Given the description of an element on the screen output the (x, y) to click on. 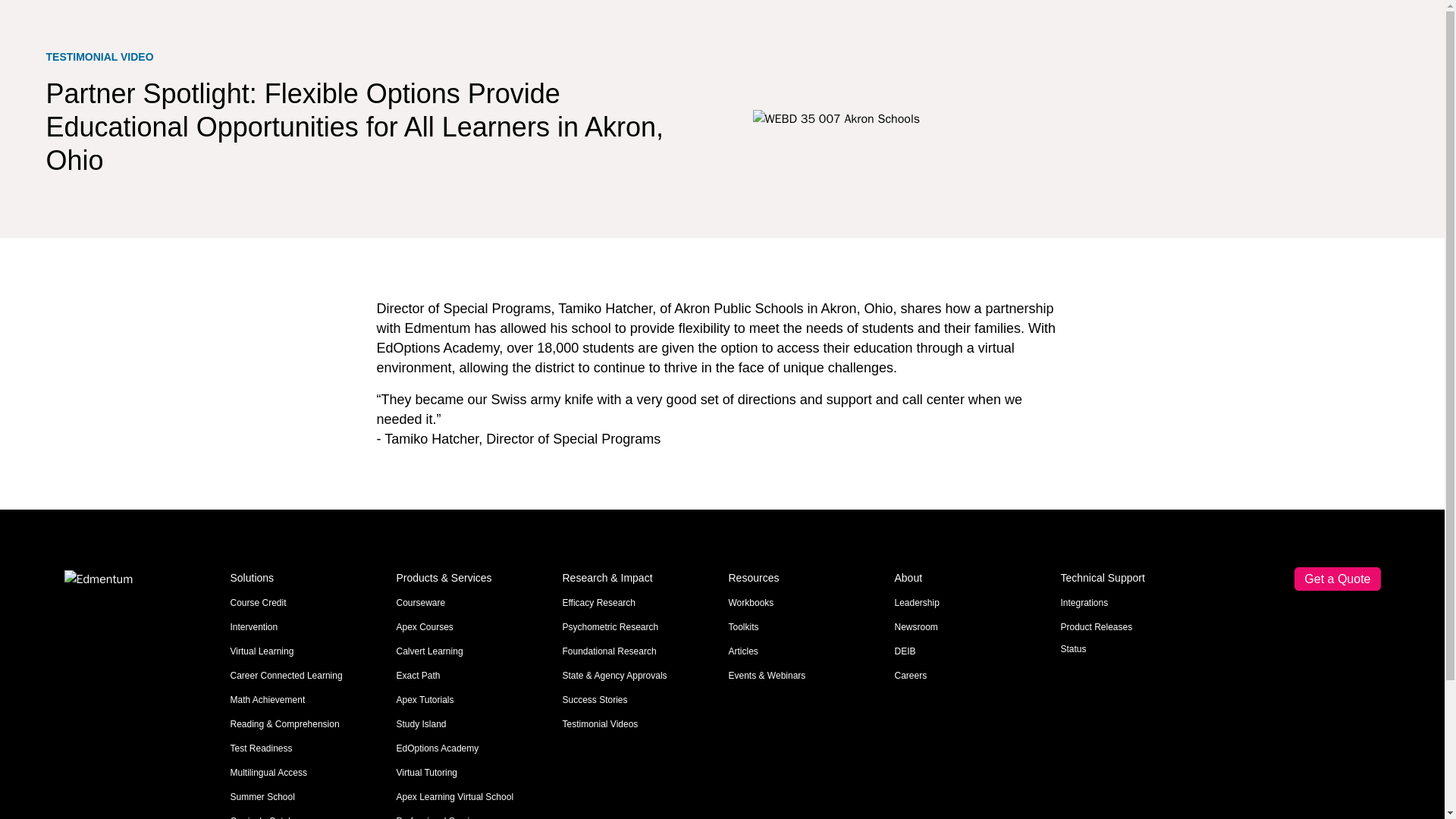
Study Island (420, 724)
Professional Services (439, 817)
Testimonial Videos (600, 724)
Apex Tutorials (424, 699)
About (971, 579)
Solutions (307, 579)
Intervention (254, 626)
Exact Path (417, 675)
Course Credit (258, 602)
Test Readiness (261, 747)
